Given the description of an element on the screen output the (x, y) to click on. 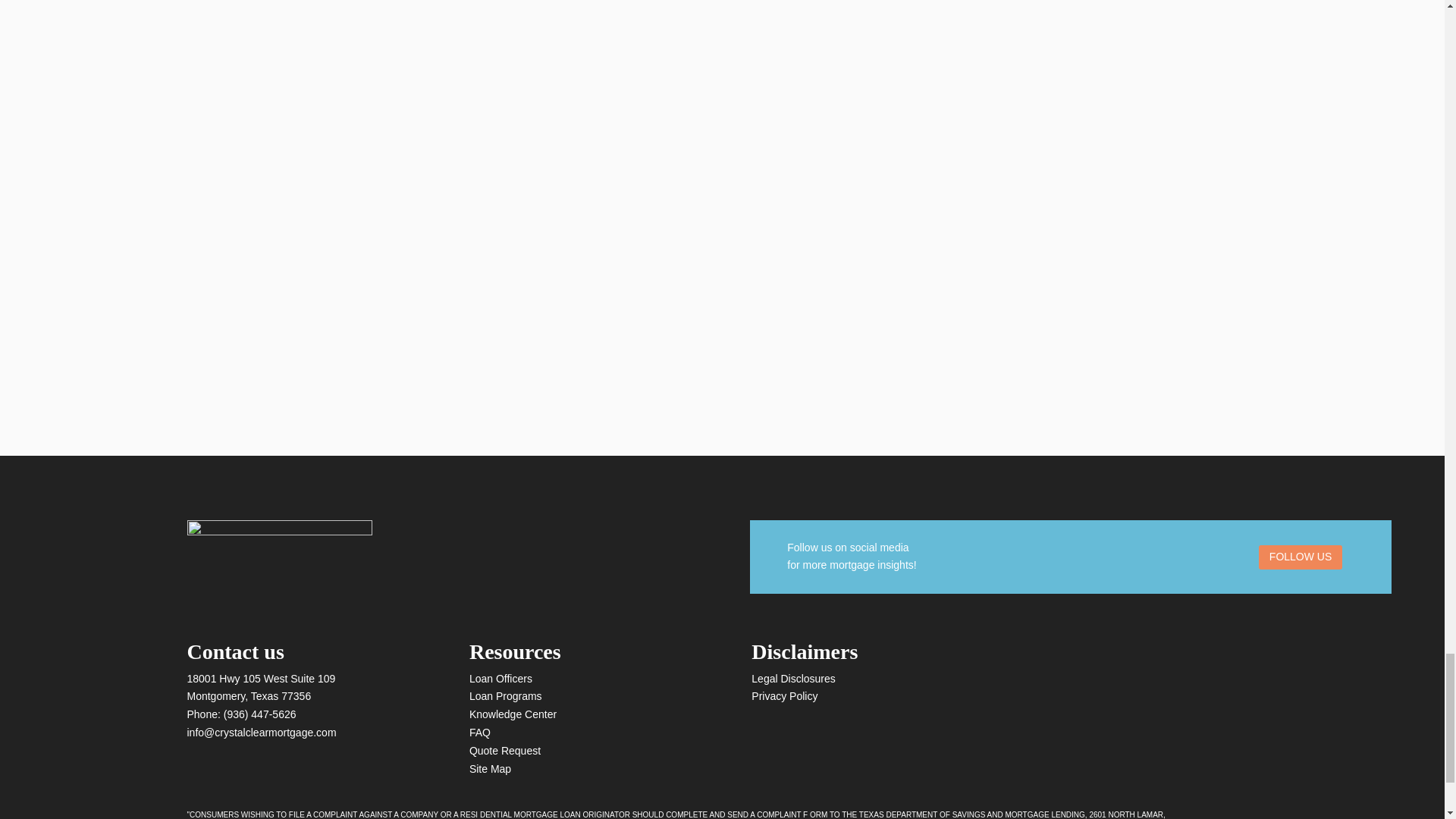
Loan Officers (500, 678)
Site Map (489, 768)
Legal Disclosures (793, 678)
Loan Programs (504, 695)
Knowledge Center (512, 714)
Privacy Policy (783, 695)
FOLLOW US (1300, 557)
FAQ (479, 732)
Quote Request (504, 750)
